Given the description of an element on the screen output the (x, y) to click on. 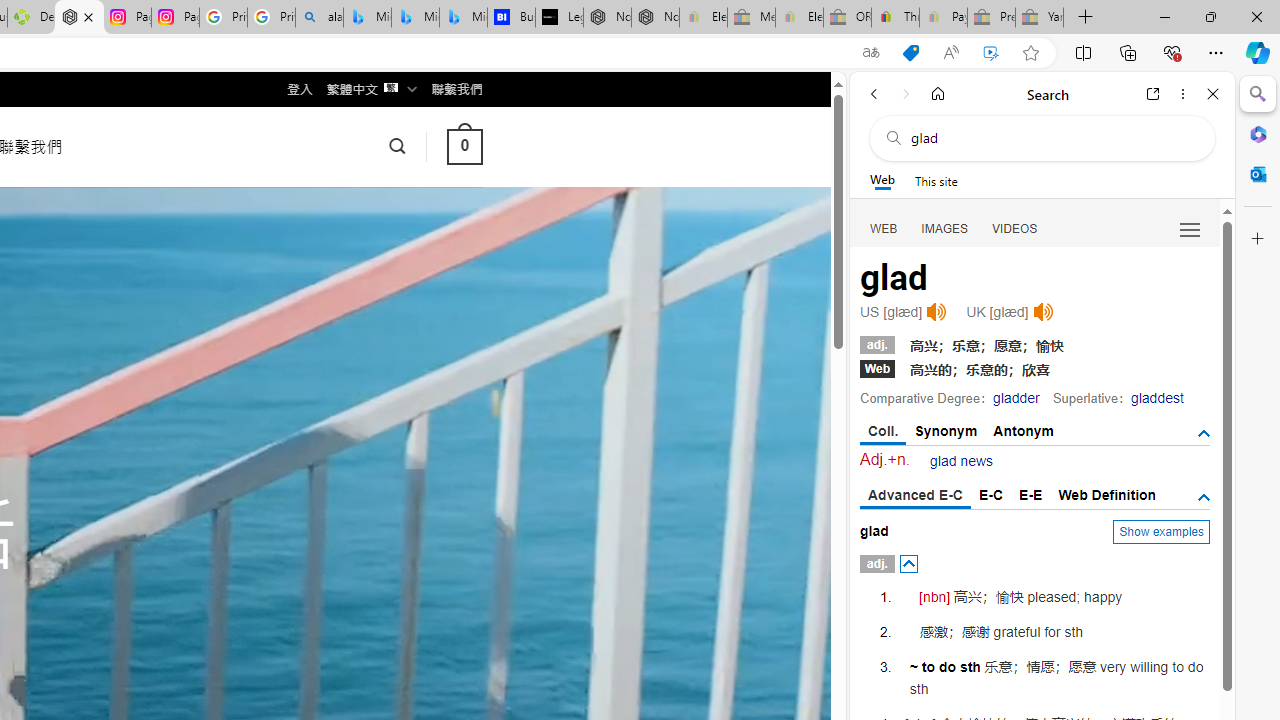
Customize (1258, 239)
Browser essentials (1171, 52)
E-C (991, 494)
Search Filter, IMAGES (944, 228)
WEB (884, 228)
Enhance video (991, 53)
Web Definition (1106, 494)
Antonym (1023, 430)
Search Filter, WEB (884, 228)
AutomationID: tgdef (1203, 497)
alabama high school quarterback dies - Search (319, 17)
  0   (464, 146)
